Given the description of an element on the screen output the (x, y) to click on. 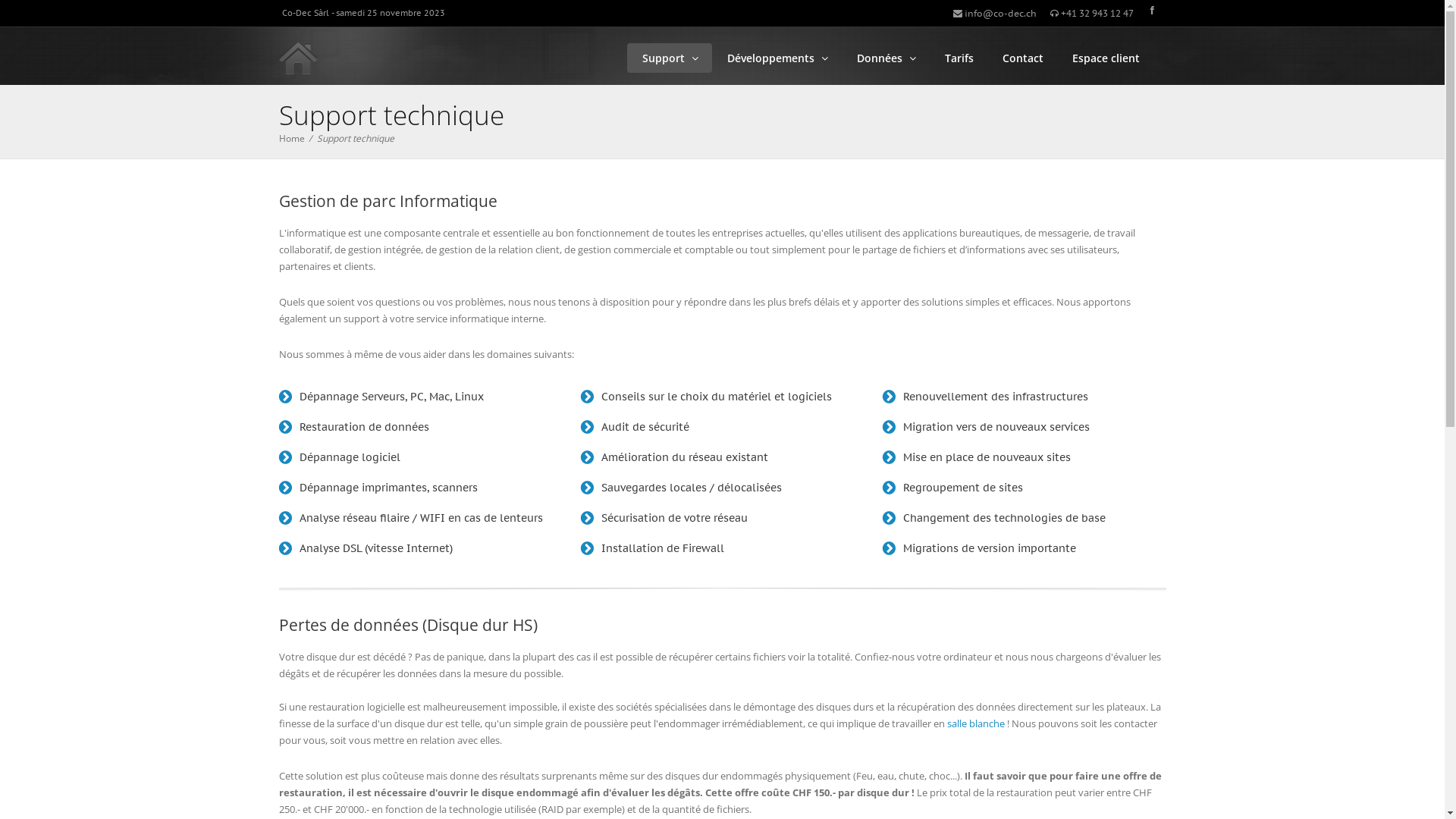
Contact Element type: text (1022, 57)
info@co-dec.ch Element type: text (993, 13)
Home Element type: text (291, 137)
Support Element type: text (669, 57)
Retrouvez-nous sur facebook ! Element type: hover (1151, 9)
Tarifs Element type: text (958, 57)
salle blanche Element type: text (975, 723)
Espace client Element type: text (1105, 57)
